Given the description of an element on the screen output the (x, y) to click on. 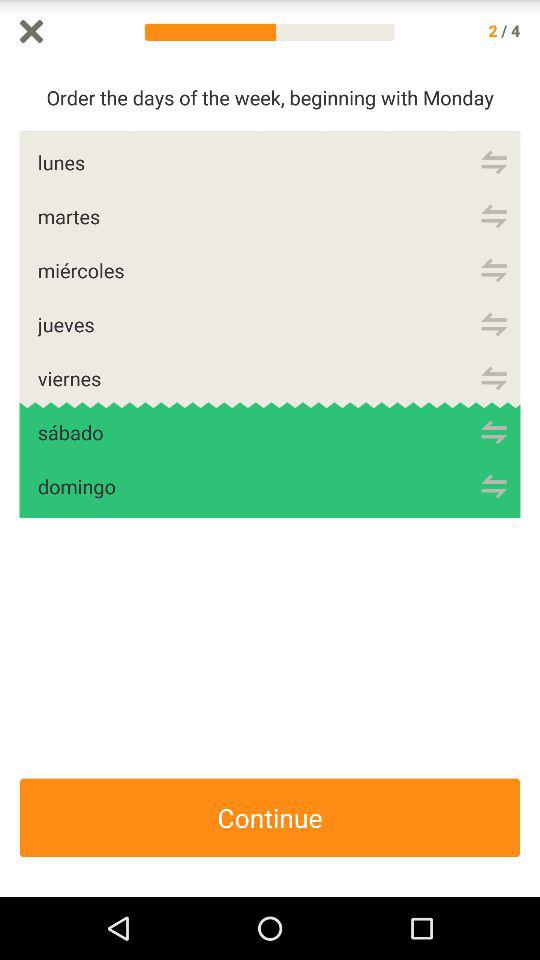
scroll up and down (530, 480)
